Given the description of an element on the screen output the (x, y) to click on. 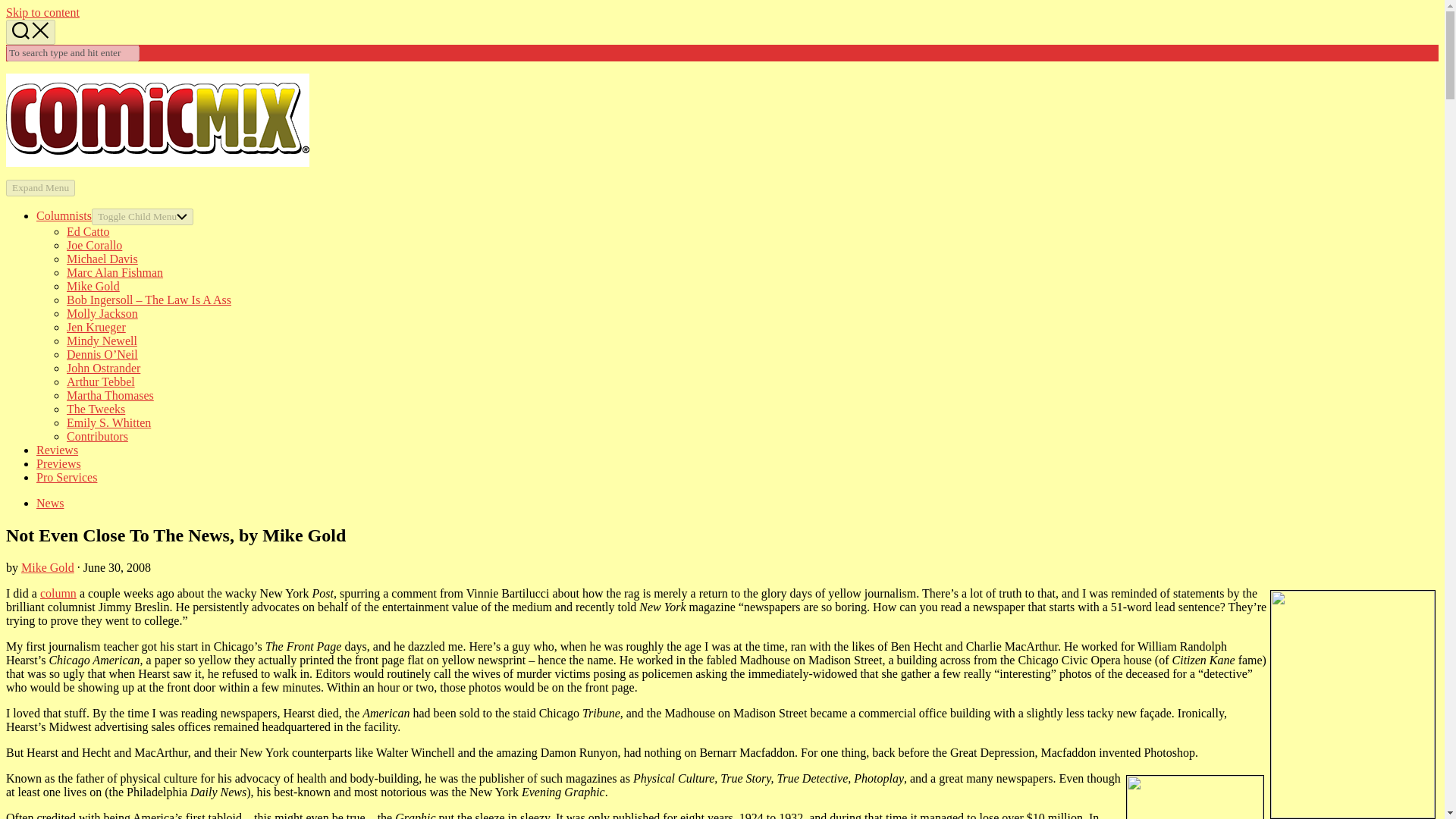
Skip to content (42, 11)
The Tweeks (95, 408)
Mike Gold (47, 567)
Marc Alan Fishman (114, 272)
Previews (58, 463)
Mindy Newell (101, 340)
Jen Krueger (95, 327)
Emily S. Whitten (108, 422)
Michael Davis (102, 258)
News (50, 502)
To search type and hit enter (72, 53)
Mike Gold (92, 286)
Arthur Tebbel (100, 381)
Columnists (63, 215)
Joe Corallo (94, 245)
